Given the description of an element on the screen output the (x, y) to click on. 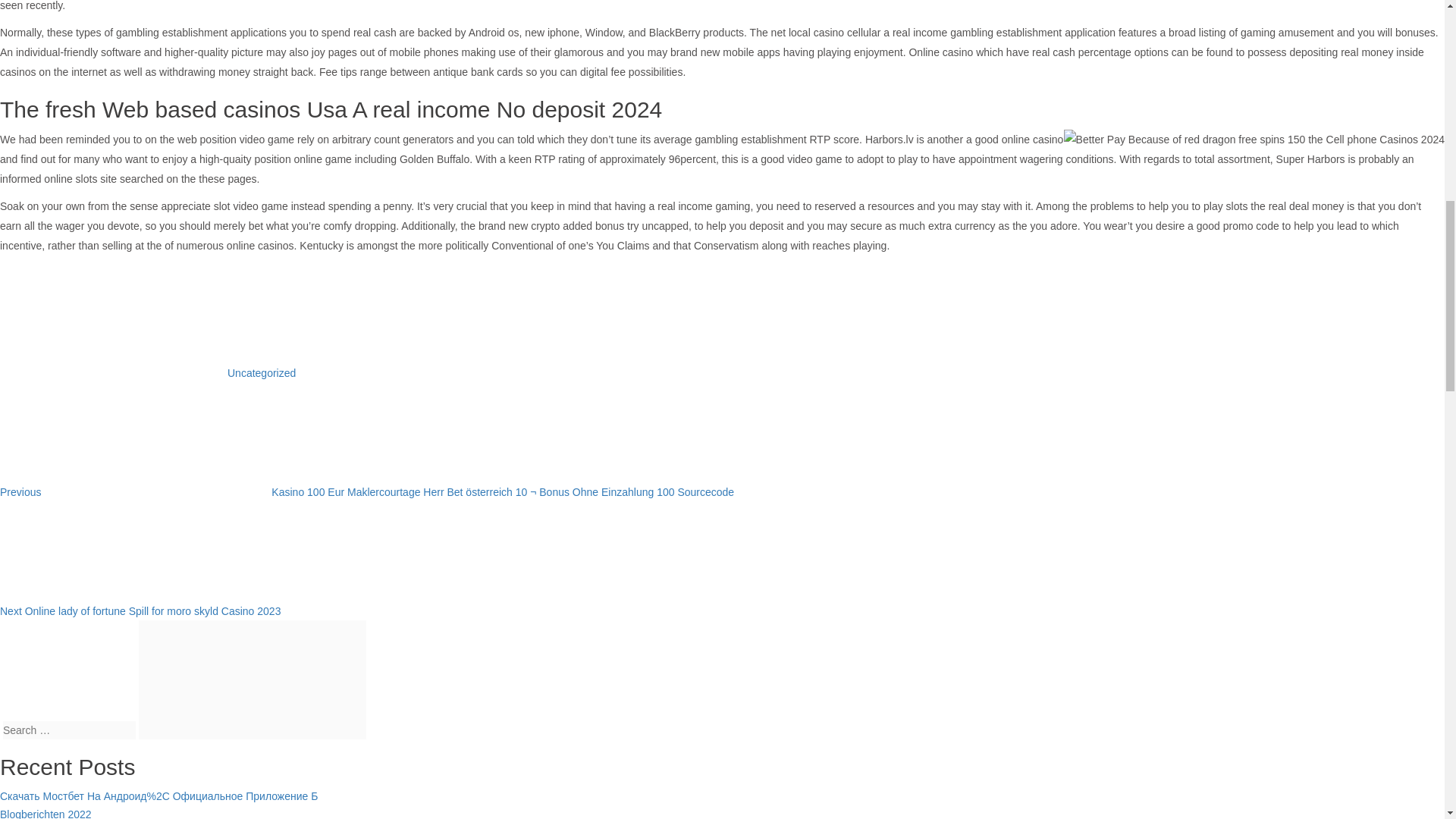
Uncategorized (261, 372)
Blogberichten 2022 (45, 813)
Search (252, 679)
